Given the description of an element on the screen output the (x, y) to click on. 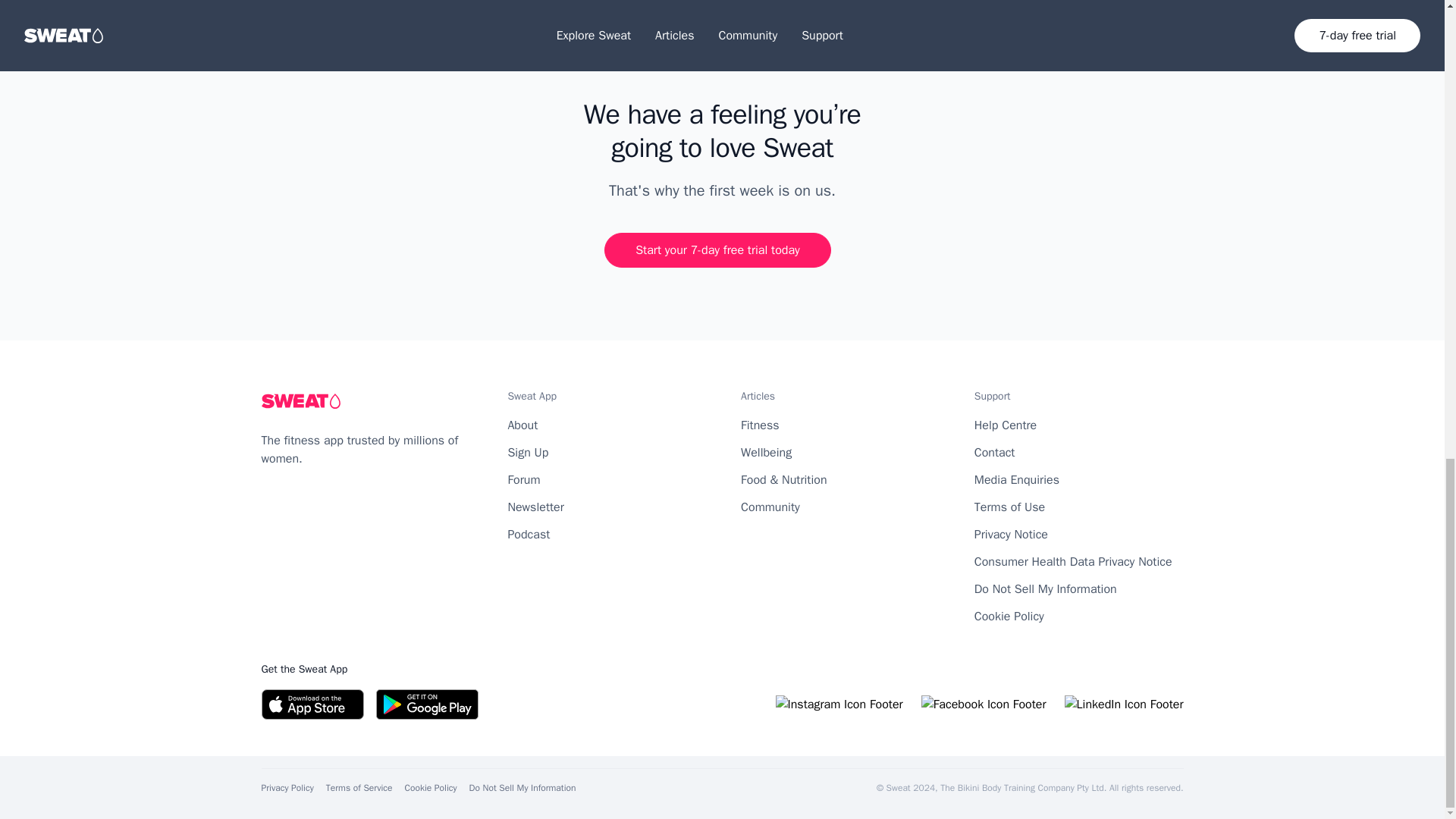
Privacy Notice (1011, 534)
Terms of Use (1009, 507)
Podcast (528, 534)
Fitness (759, 425)
About (521, 425)
Consumer Health Data Privacy Notice (1073, 561)
Forum (523, 479)
Sign Up (527, 452)
Wellbeing (766, 452)
Newsletter (534, 507)
Contact (994, 452)
Start your 7-day free trial today (717, 249)
Media Enquiries (1016, 479)
Community (770, 507)
Help Centre (1005, 425)
